Given the description of an element on the screen output the (x, y) to click on. 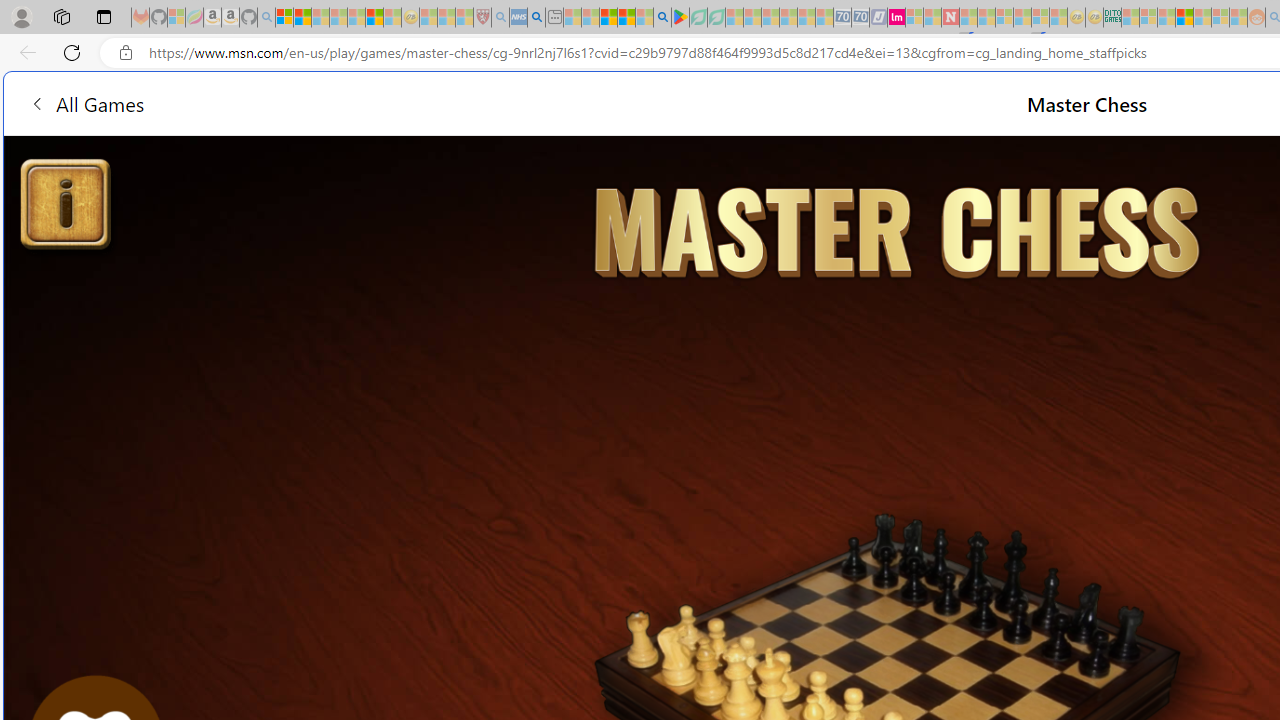
Bluey: Let's Play! - Apps on Google Play (680, 17)
Local - MSN - Sleeping (464, 17)
utah sues federal government - Search (536, 17)
